Given the description of an element on the screen output the (x, y) to click on. 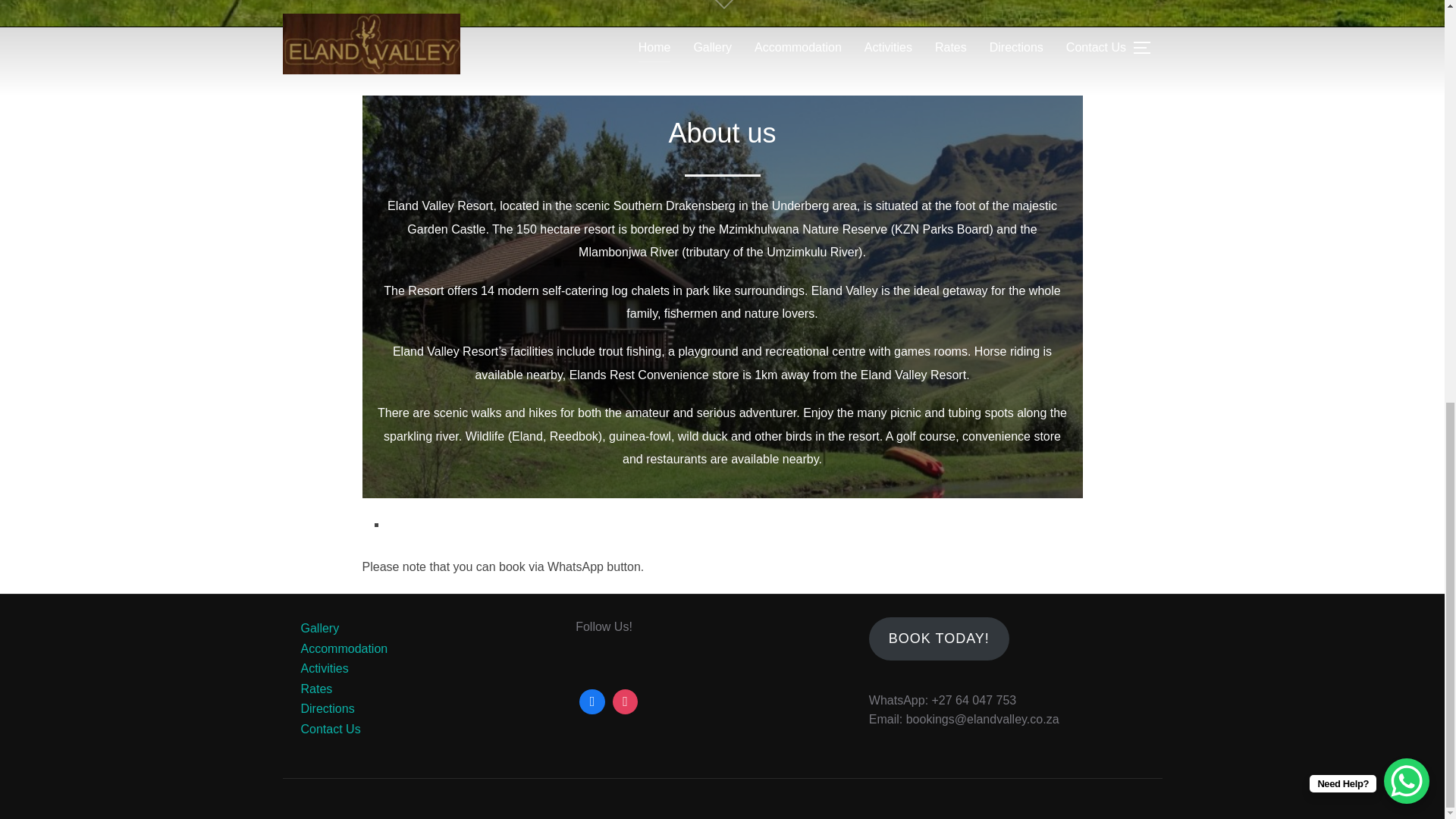
Accommodation (343, 648)
Instagram (625, 702)
Directions (326, 707)
Scroll down to content (721, 6)
Rates (315, 688)
Activities (323, 667)
Facebook (591, 702)
Gallery (319, 627)
BOOK TODAY! (939, 638)
Contact Us (329, 728)
